Given the description of an element on the screen output the (x, y) to click on. 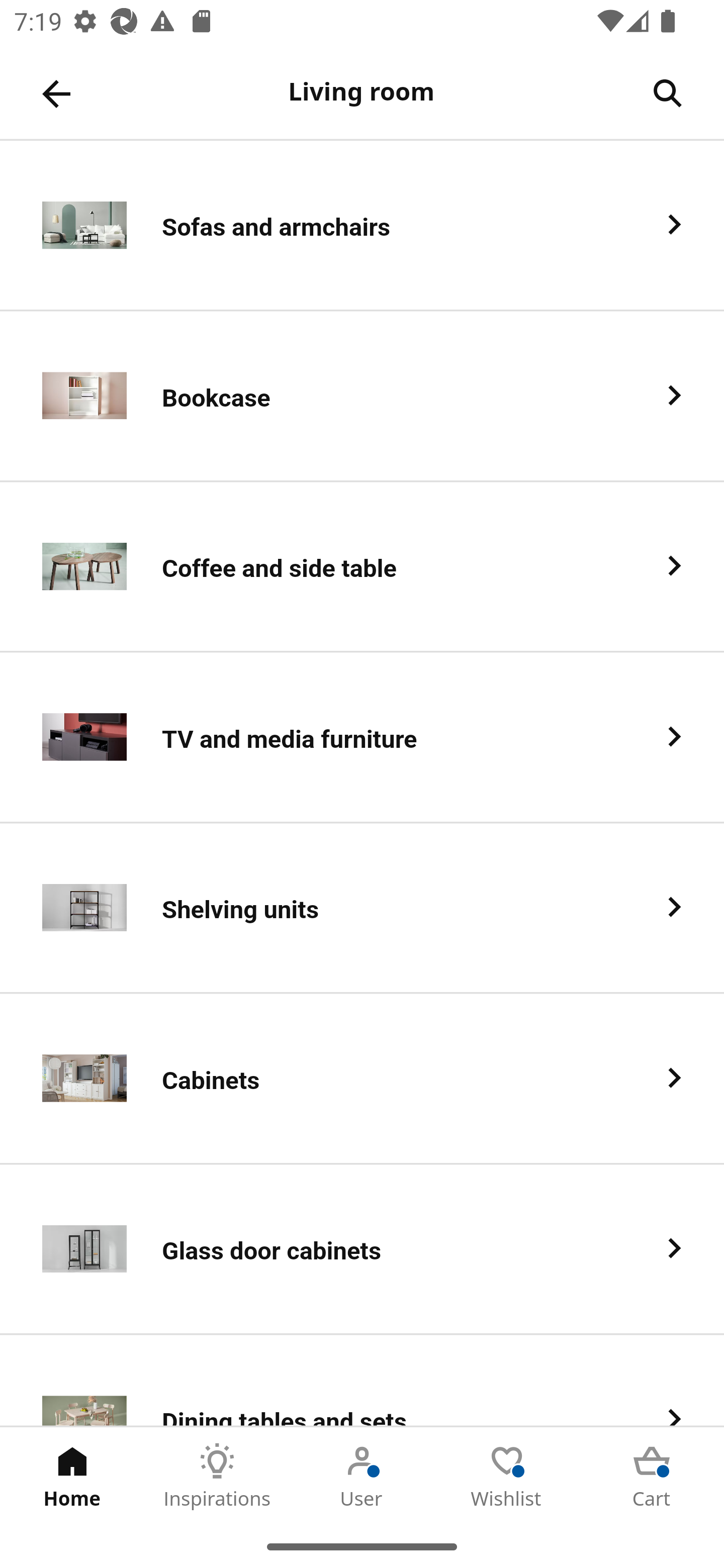
Sofas and armchairs (362, 226)
Bookcase (362, 396)
Coffee and side table (362, 566)
TV and media furniture (362, 737)
Shelving units (362, 908)
Cabinets (362, 1079)
Glass door cabinets (362, 1250)
Home
Tab 1 of 5 (72, 1476)
Inspirations
Tab 2 of 5 (216, 1476)
User
Tab 3 of 5 (361, 1476)
Wishlist
Tab 4 of 5 (506, 1476)
Cart
Tab 5 of 5 (651, 1476)
